Given the description of an element on the screen output the (x, y) to click on. 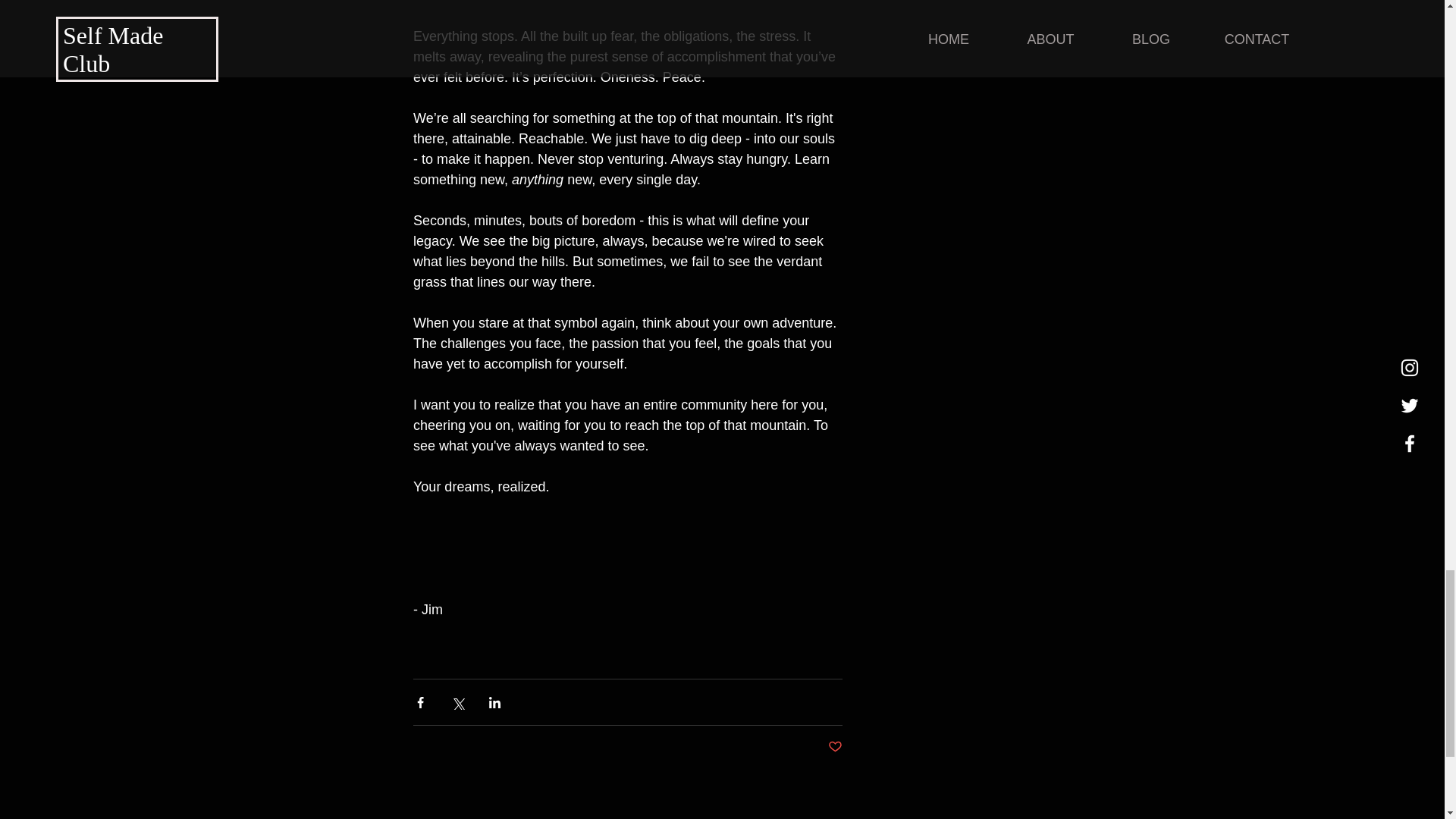
Post not marked as liked (835, 747)
